Given the description of an element on the screen output the (x, y) to click on. 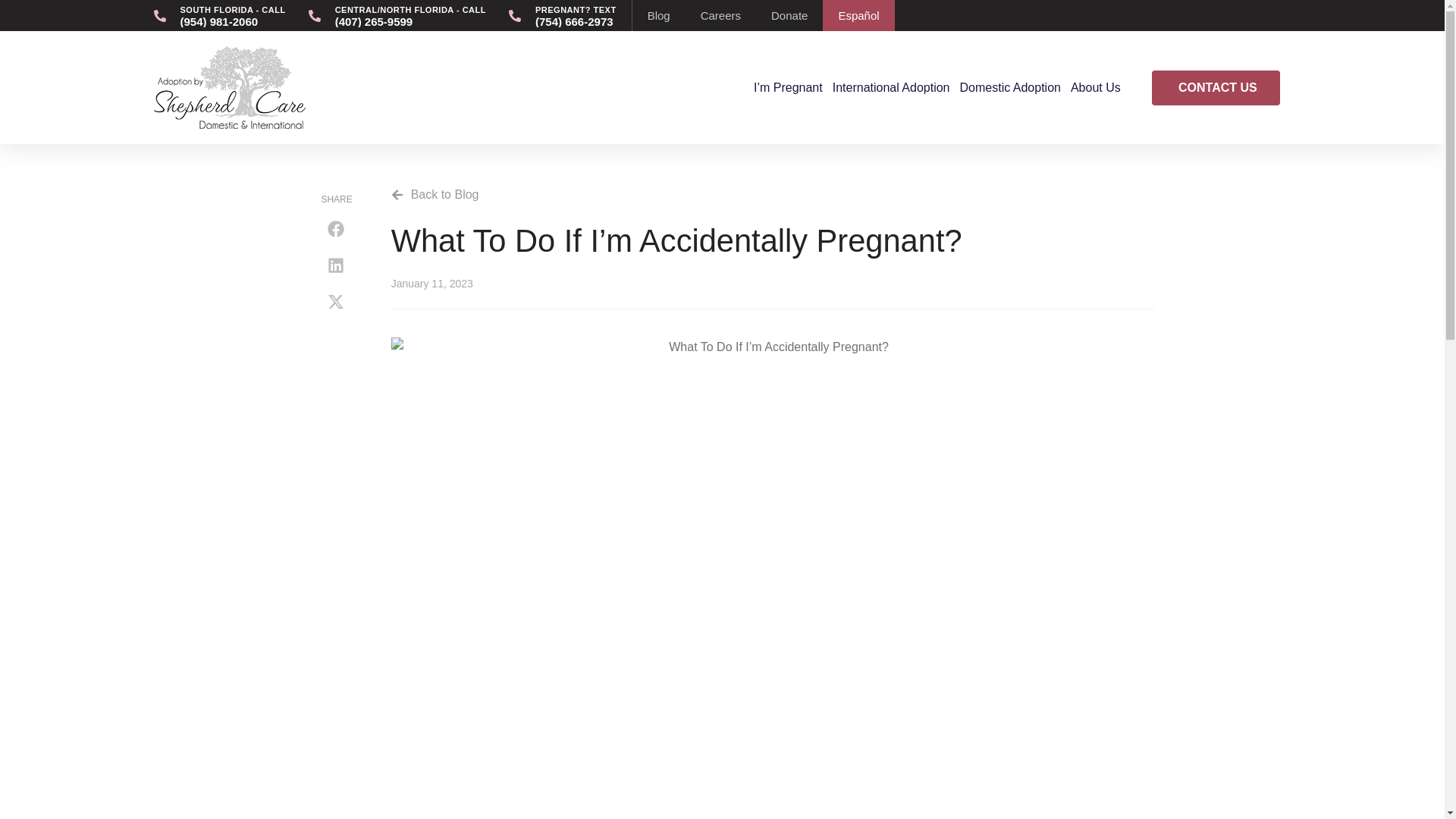
International Adoption (890, 87)
Careers (720, 15)
Blog (658, 15)
About Us (1094, 87)
Donate (788, 15)
Domestic Adoption (1009, 87)
